Given the description of an element on the screen output the (x, y) to click on. 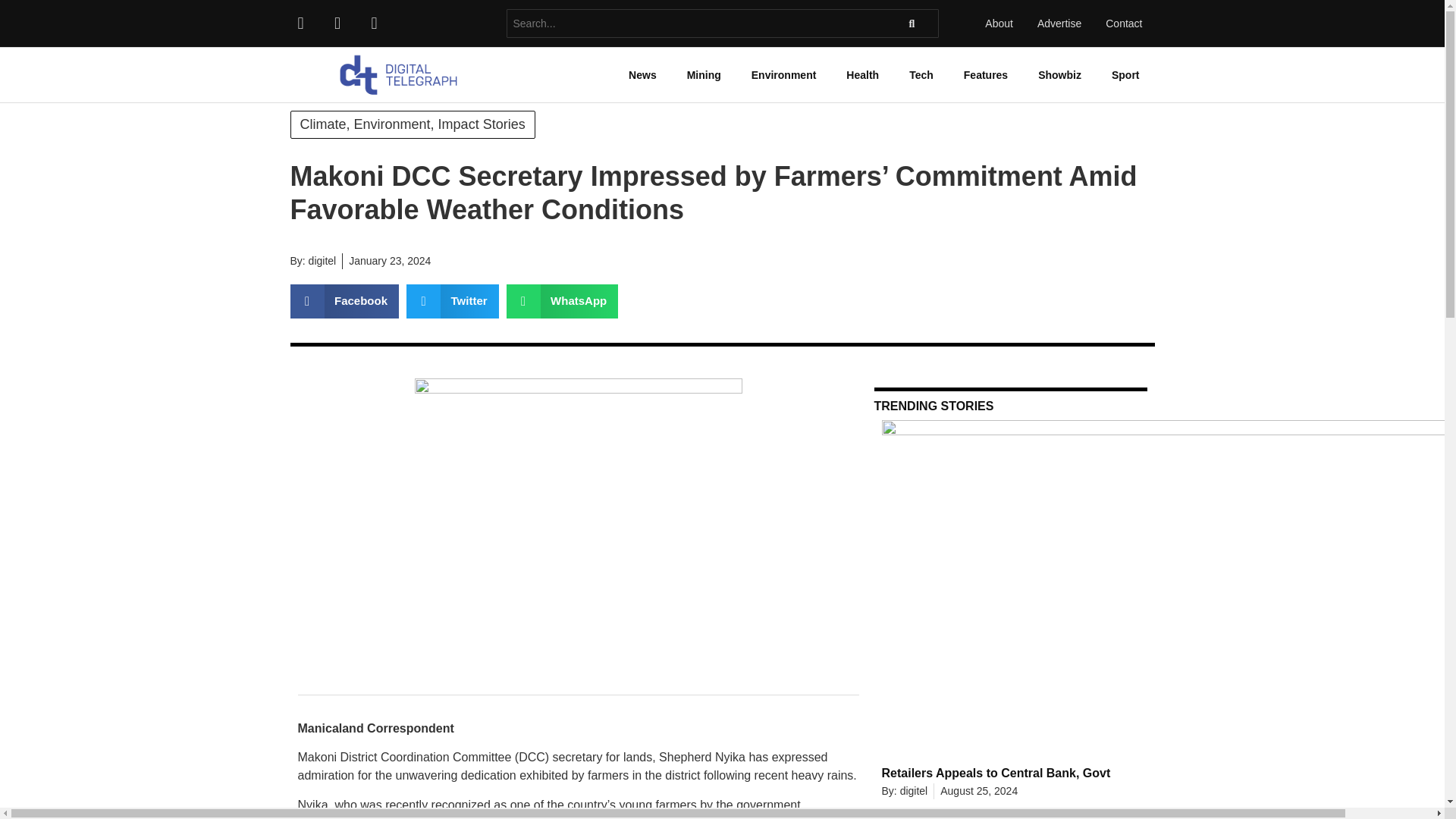
Retailers Appeals to Central Bank, Govt (996, 772)
News (641, 74)
Sport (1125, 74)
Tech (921, 74)
Mining (703, 74)
Environment (783, 74)
Showbiz (1059, 74)
Health (862, 74)
Features (986, 74)
